Given the description of an element on the screen output the (x, y) to click on. 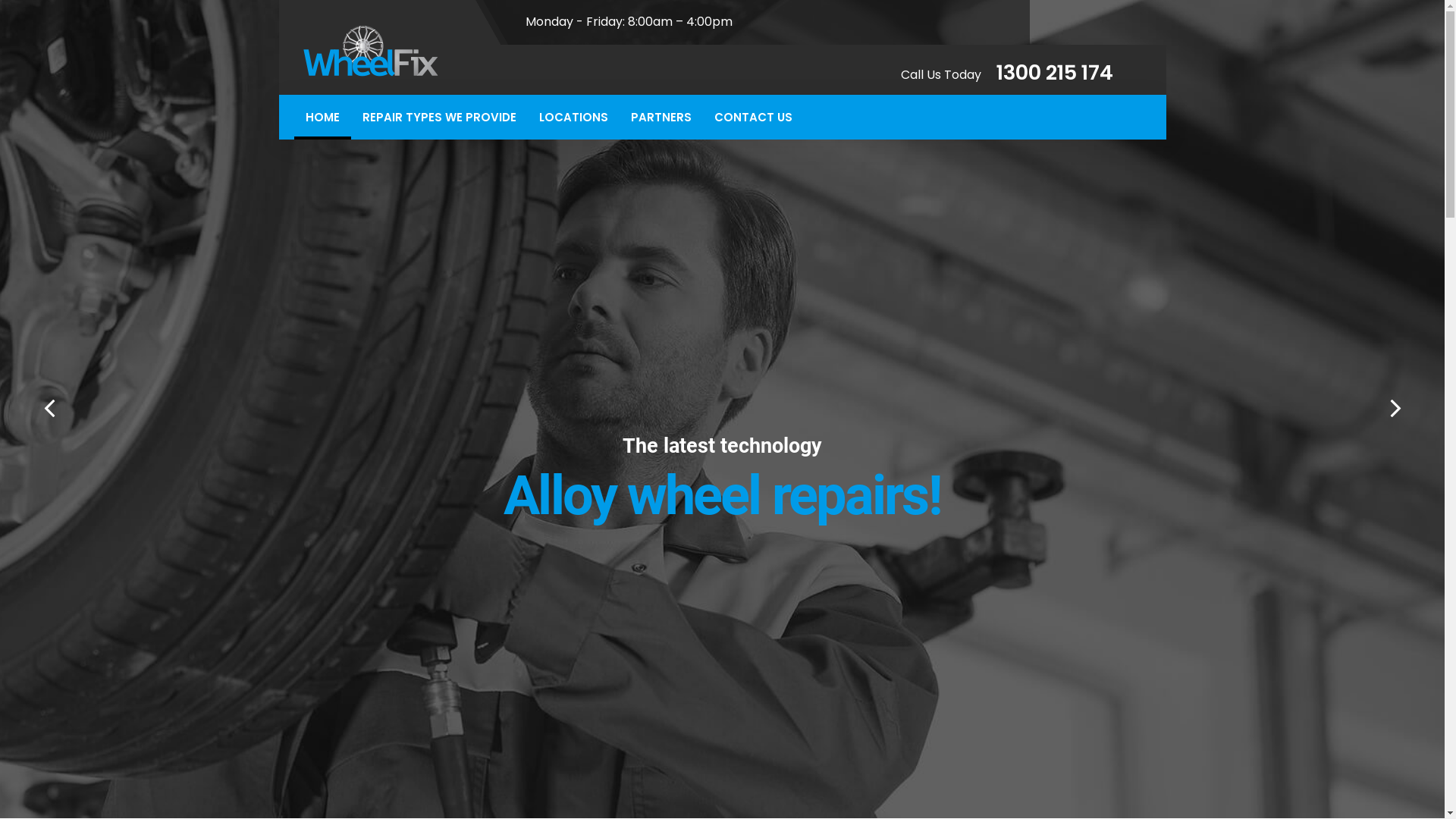
LOCATIONS Element type: text (573, 116)
PARTNERS Element type: text (660, 116)
Next Element type: text (1394, 408)
HOME Element type: text (322, 116)
Previous Element type: text (48, 408)
CONTACT US Element type: text (752, 116)
REPAIR TYPES WE PROVIDE Element type: text (438, 116)
